Given the description of an element on the screen output the (x, y) to click on. 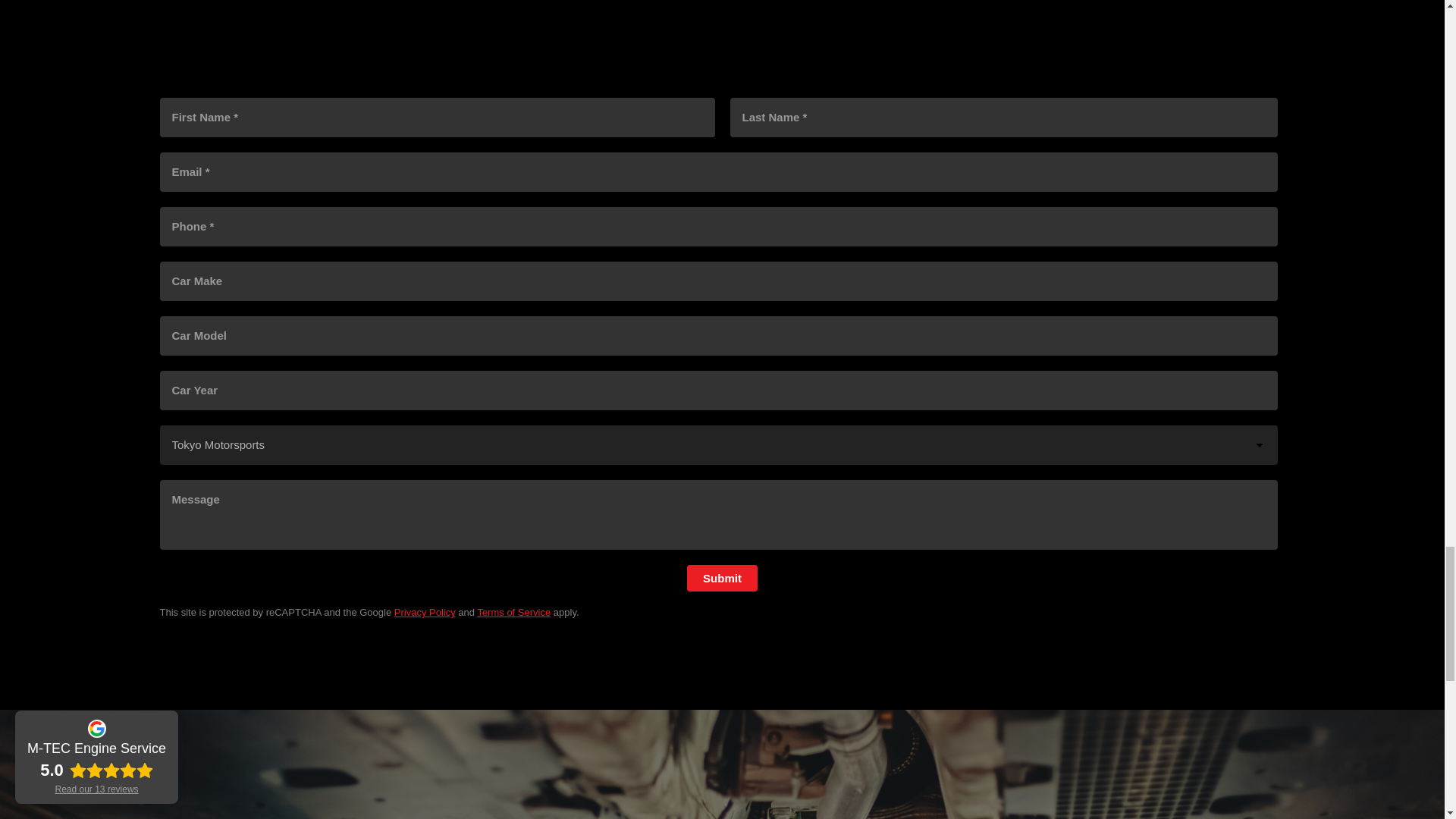
Submit (722, 578)
Privacy Policy (424, 612)
Terms of Service (513, 612)
